Given the description of an element on the screen output the (x, y) to click on. 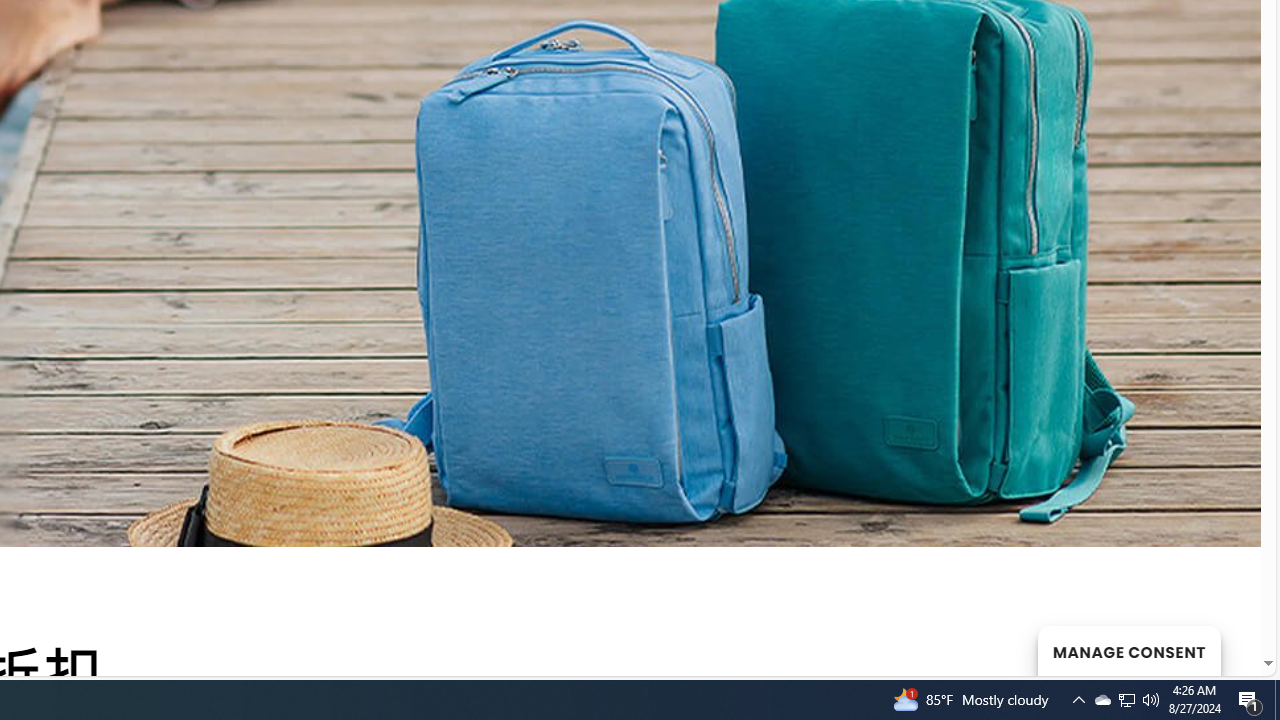
MANAGE CONSENT (1128, 650)
